Given the description of an element on the screen output the (x, y) to click on. 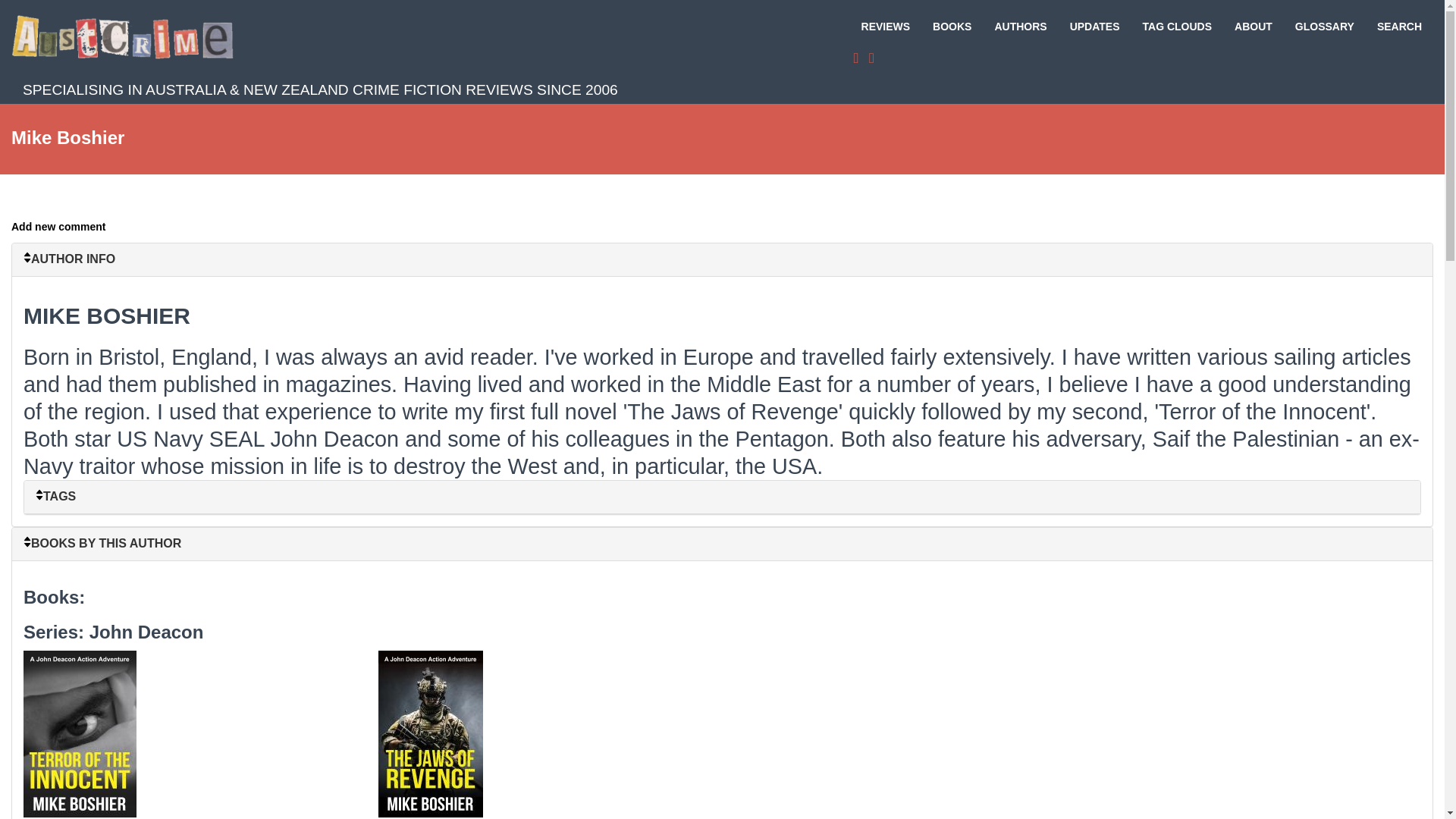
BOOKS BY THIS AUTHOR (721, 543)
TAG CLOUDS (1177, 26)
UPDATES (1094, 26)
Share your thoughts and opinions. (57, 226)
SEARCH (1398, 26)
Add new comment (57, 226)
BOOKS (951, 26)
Tag Clouds (1177, 26)
ABOUT (1253, 26)
GLOSSARY (1324, 26)
About this Site (1253, 26)
AUTHORS (1020, 26)
Home (127, 35)
